Given the description of an element on the screen output the (x, y) to click on. 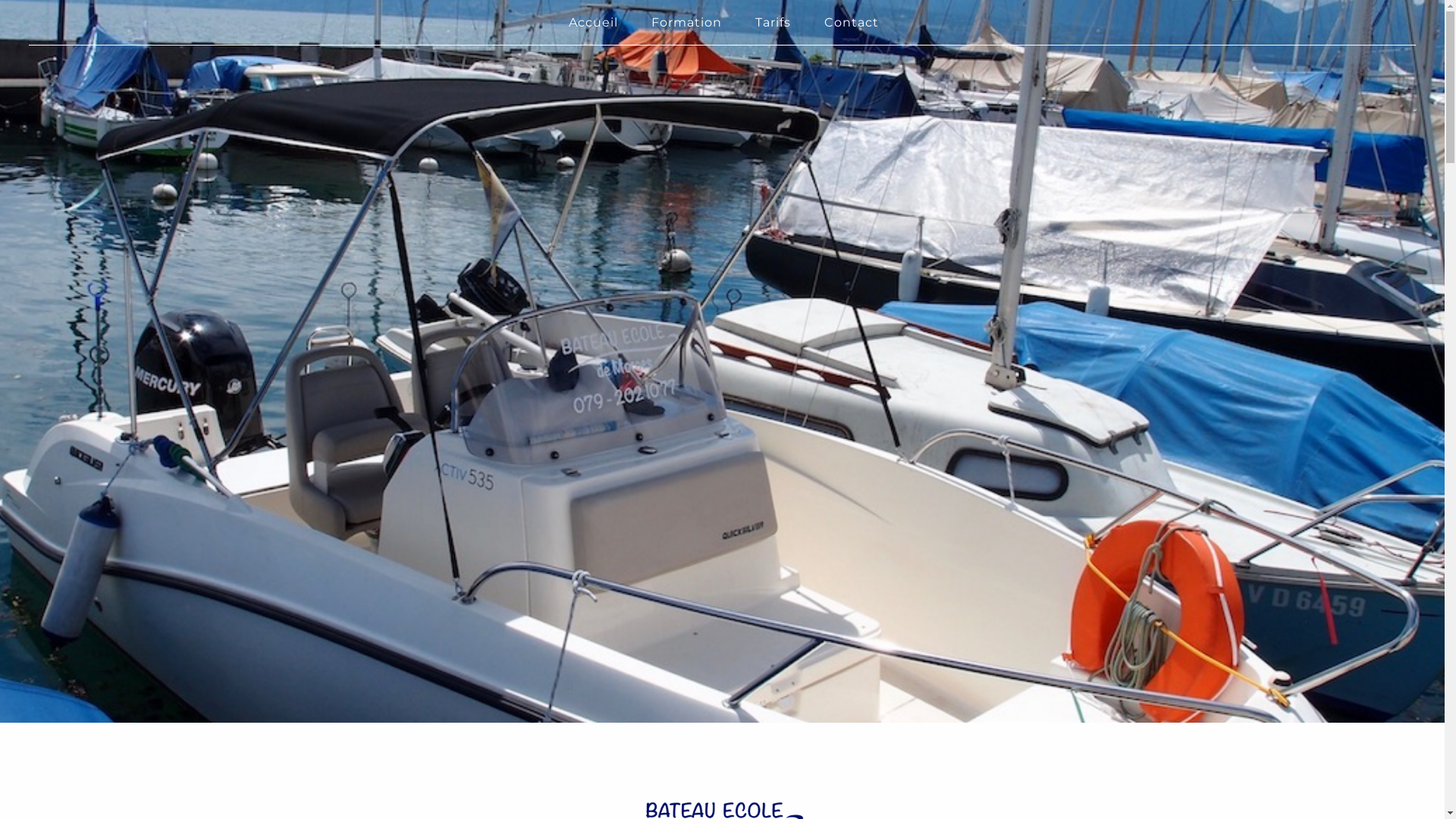
Formation Element type: text (686, 22)
Accueil Element type: text (593, 22)
Tarifs Element type: text (772, 22)
Contact Element type: text (851, 22)
